Given the description of an element on the screen output the (x, y) to click on. 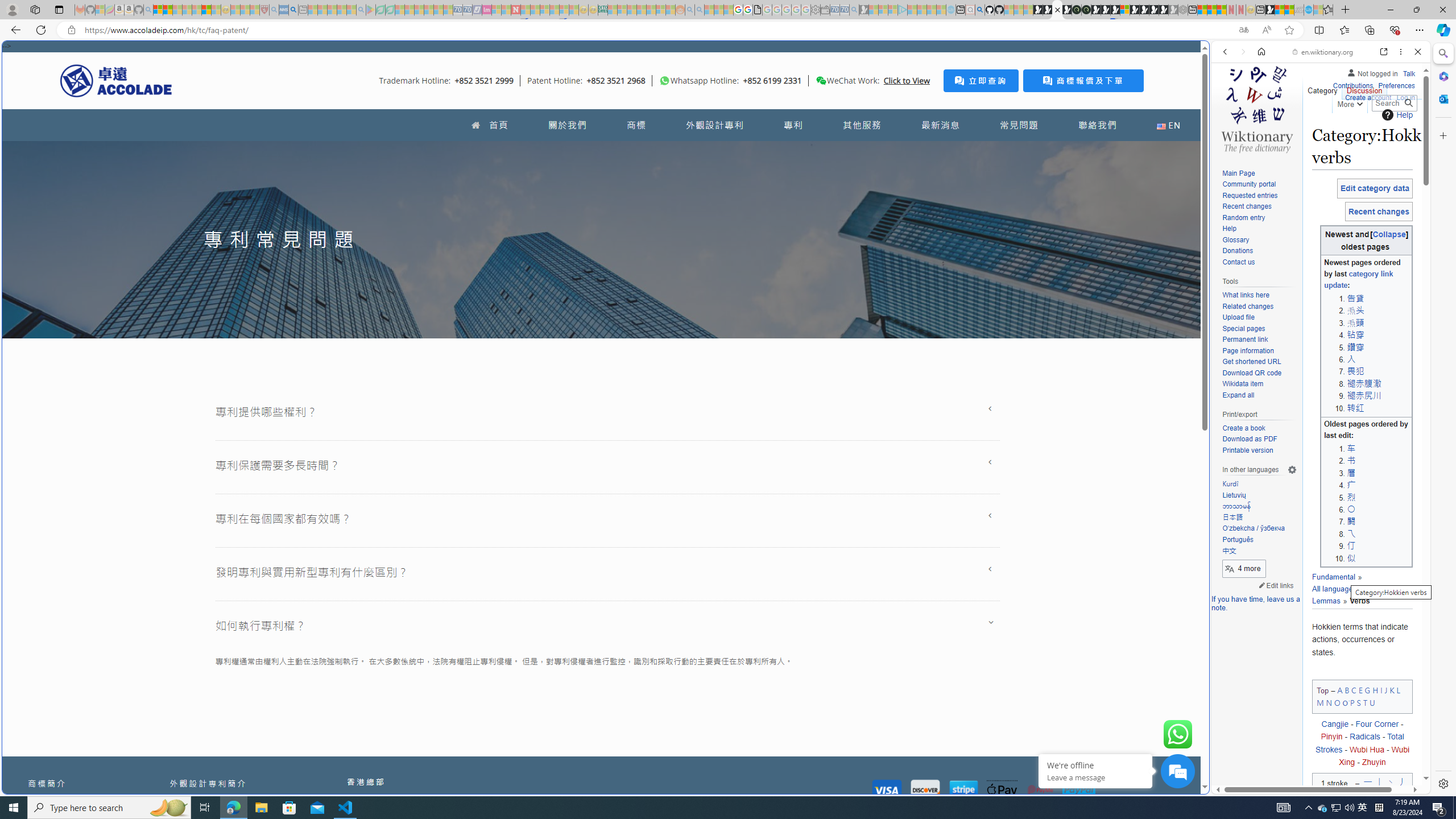
Wubi Xing (1374, 755)
Search Wiktionary (1393, 103)
1 stroke (1334, 786)
